Given the description of an element on the screen output the (x, y) to click on. 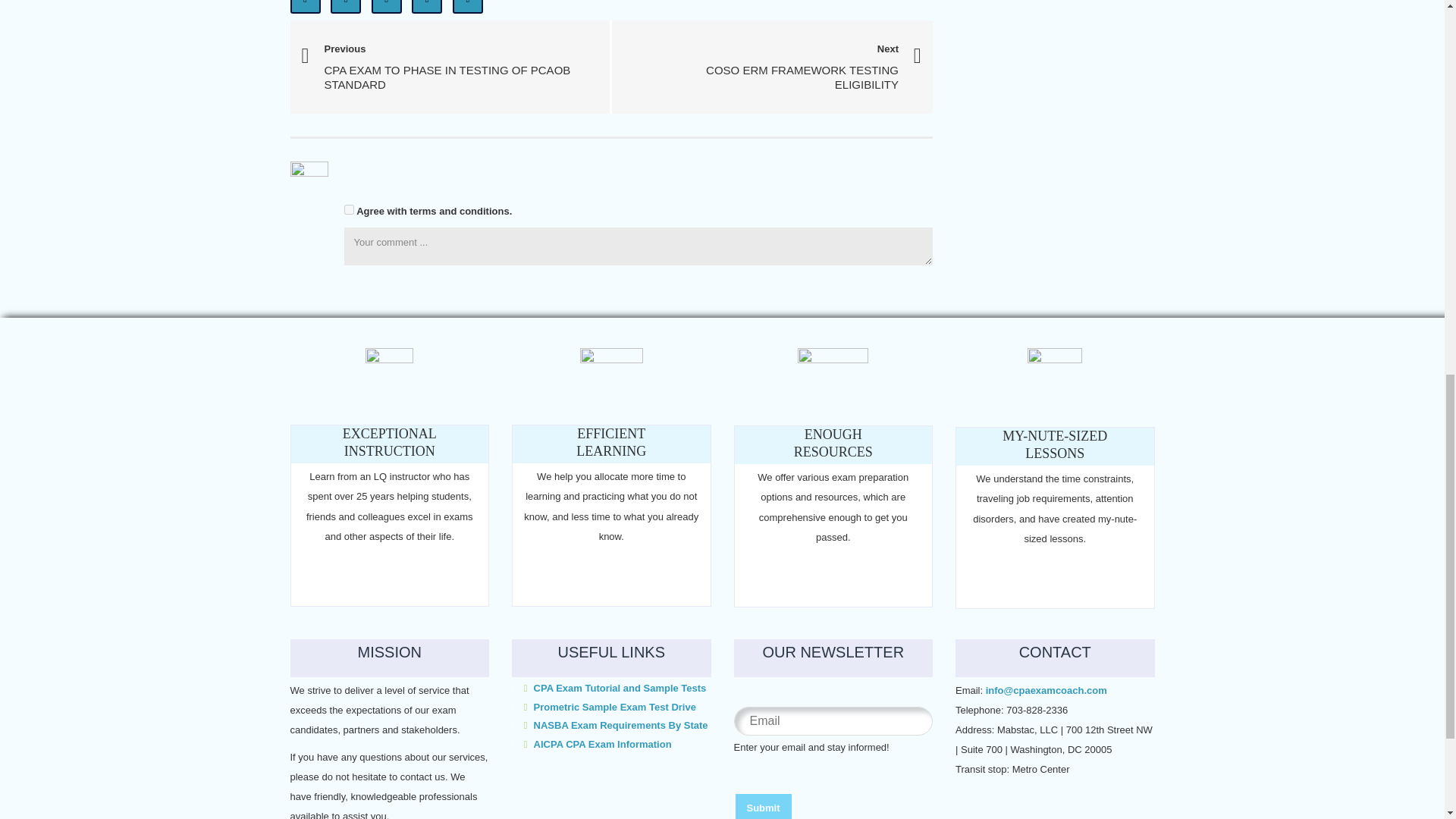
Email this (467, 6)
1 (348, 209)
Share on Twitter (345, 6)
CPA Exam to Phase in Testing of PCAOB Standard (449, 65)
COSO ERM Framework Testing Eligibility (772, 68)
Share on LinkedIn (386, 6)
Share on Facebook (304, 6)
General Terms and Conditions (434, 211)
Share on Google Plus (427, 6)
